Given the description of an element on the screen output the (x, y) to click on. 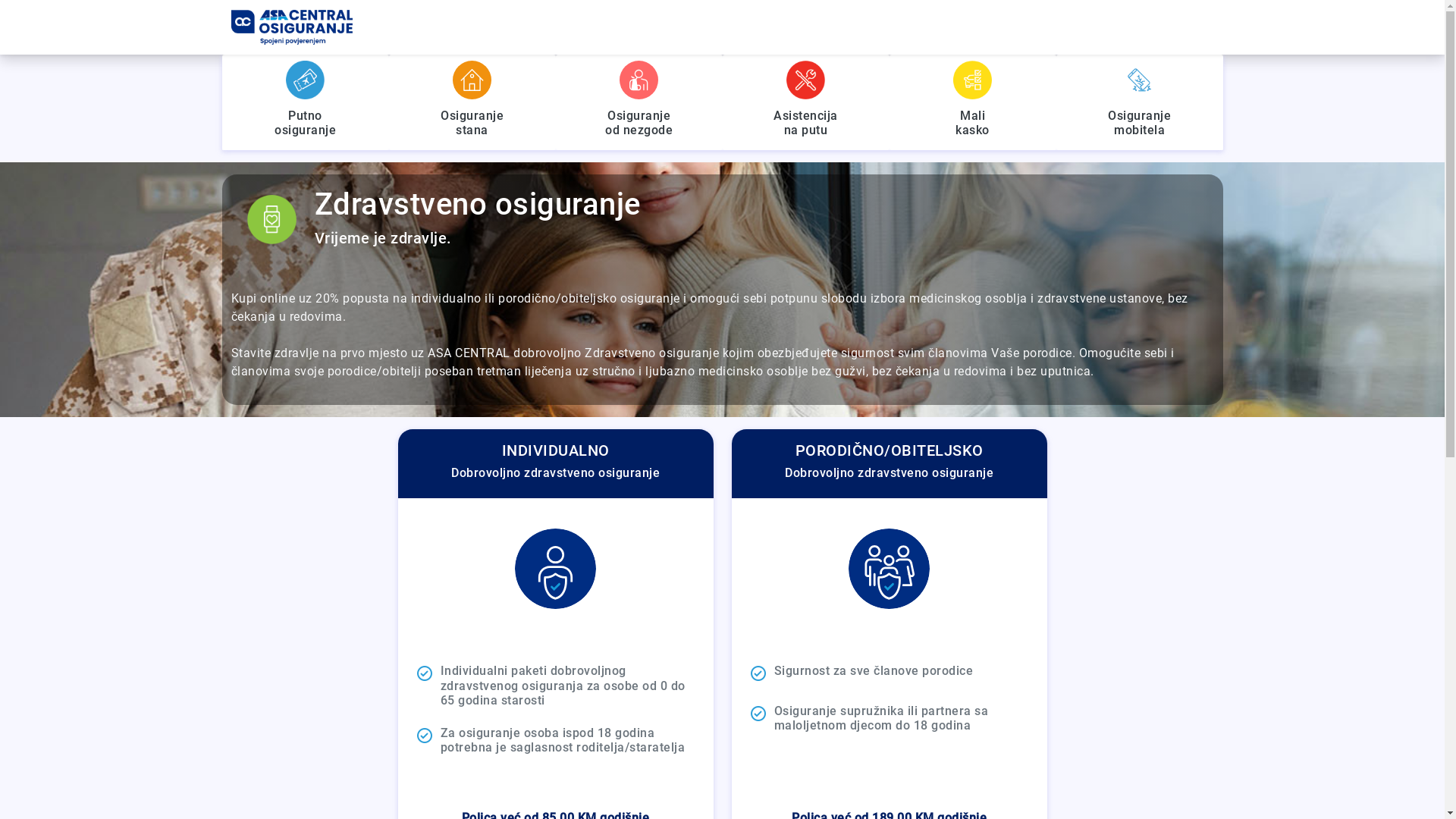
Osiguranje
stana Element type: text (471, 102)
Osiguranje
mobitela Element type: text (1138, 102)
Mali
kasko Element type: text (971, 102)
Asistencija
na putu Element type: text (805, 102)
Putno
osiguranje Element type: text (304, 102)
Osiguranje
od nezgode Element type: text (638, 102)
